Given the description of an element on the screen output the (x, y) to click on. 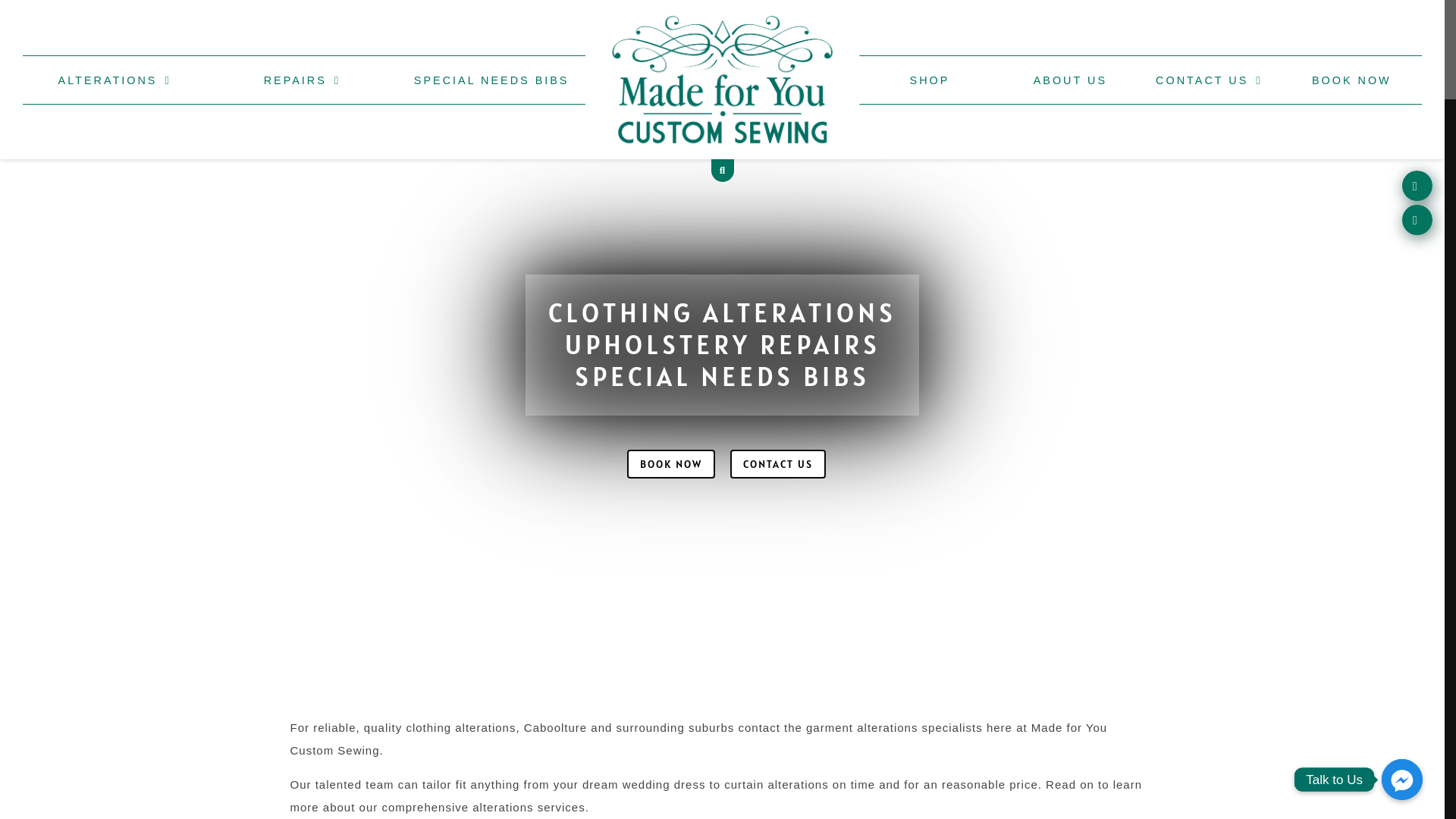
ALTERATIONS Element type: text (114, 78)
CART Element type: text (1393, 185)
REPAIRS Element type: text (301, 78)
Talk to Us Element type: text (1401, 779)
CONTACT US Element type: text (777, 463)
ACCOUNT Element type: text (1379, 219)
BOOK NOW Element type: text (670, 463)
CONTACT US Element type: text (1208, 78)
SPECIAL NEEDS BIBS Element type: text (491, 78)
ABOUT US Element type: text (1070, 78)
SHOP Element type: text (929, 78)
BOOK NOW Element type: text (1351, 78)
Search Element type: text (1031, 197)
